Given the description of an element on the screen output the (x, y) to click on. 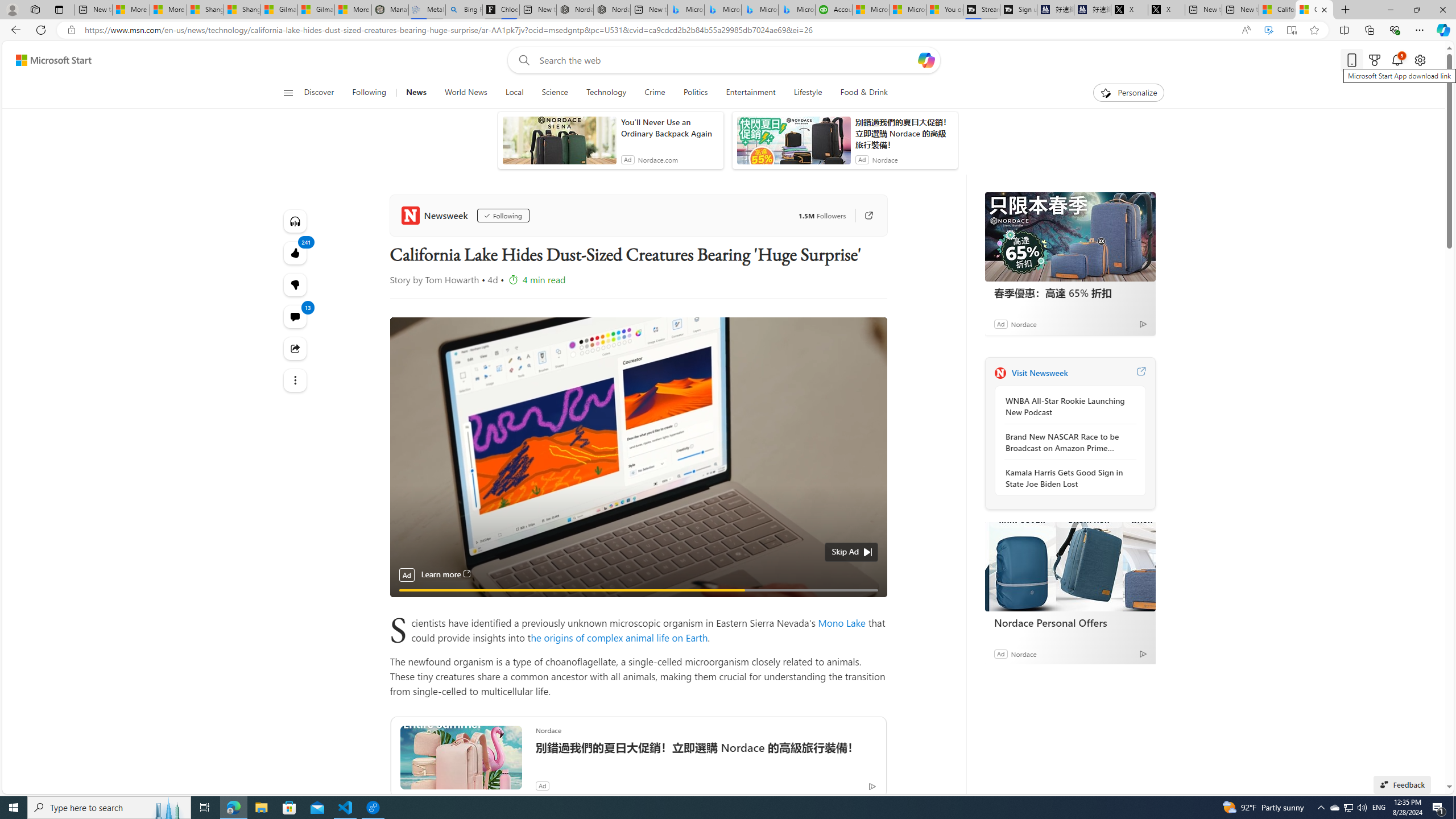
video progress bar (637, 589)
Politics (695, 92)
Lifestyle (807, 92)
